Given the description of an element on the screen output the (x, y) to click on. 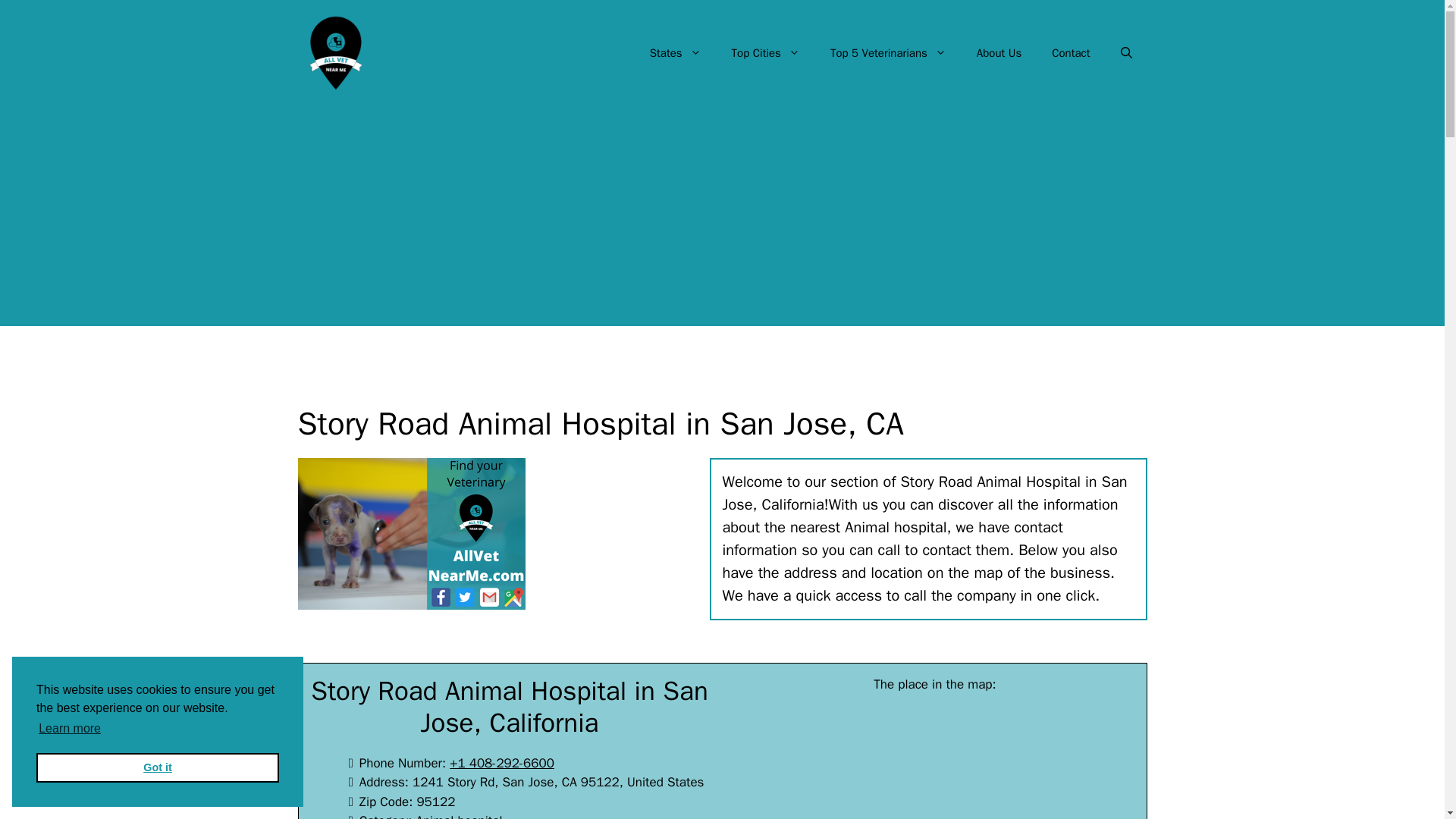
States (675, 53)
